Given the description of an element on the screen output the (x, y) to click on. 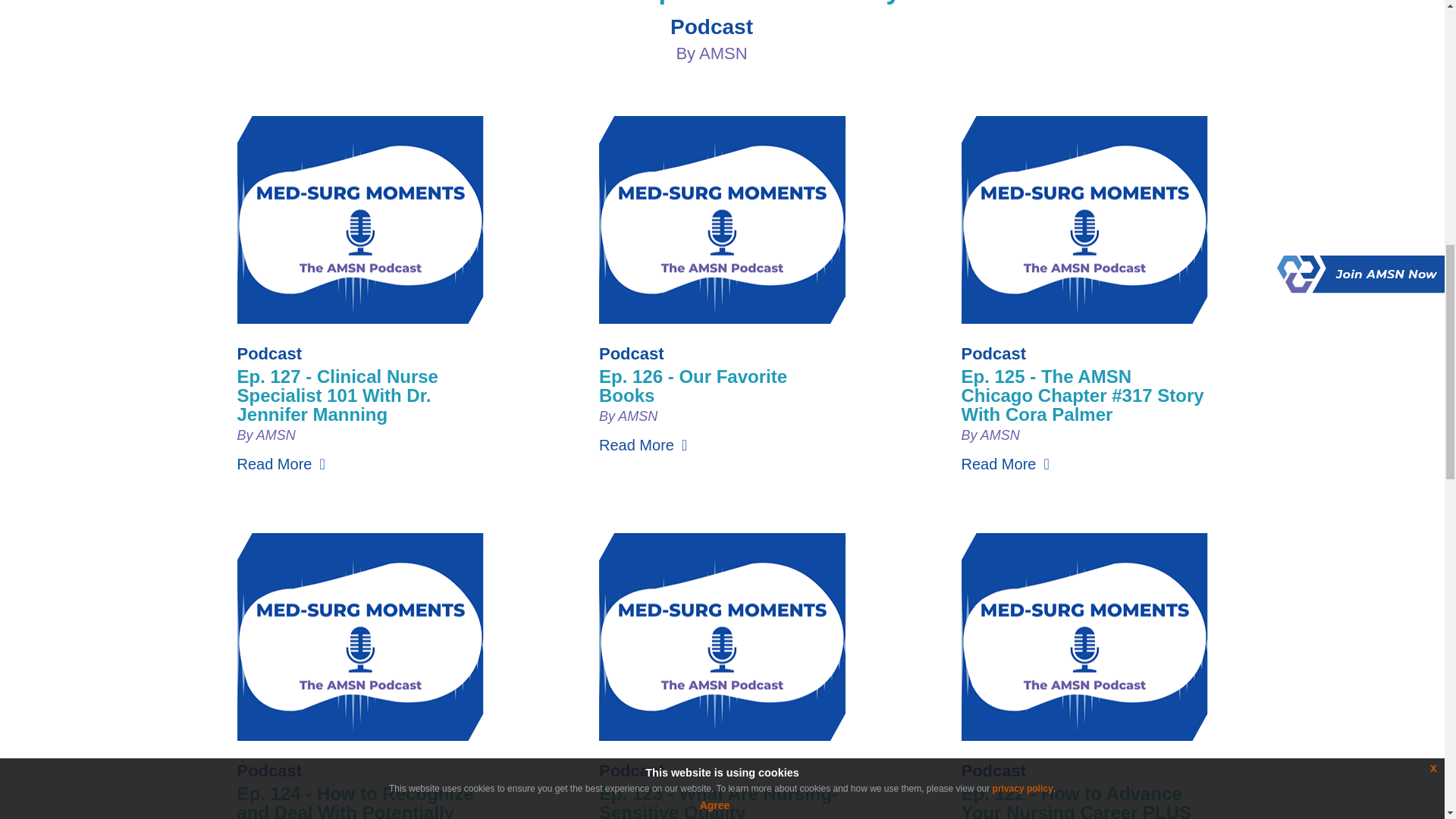
Read More (642, 444)
Ep. 123 - What Are Nursing-Sensitive Quality Indicators? (718, 800)
Read More (1004, 463)
Ep. 126 - Our Favorite Books (692, 385)
Read More (279, 463)
